Given the description of an element on the screen output the (x, y) to click on. 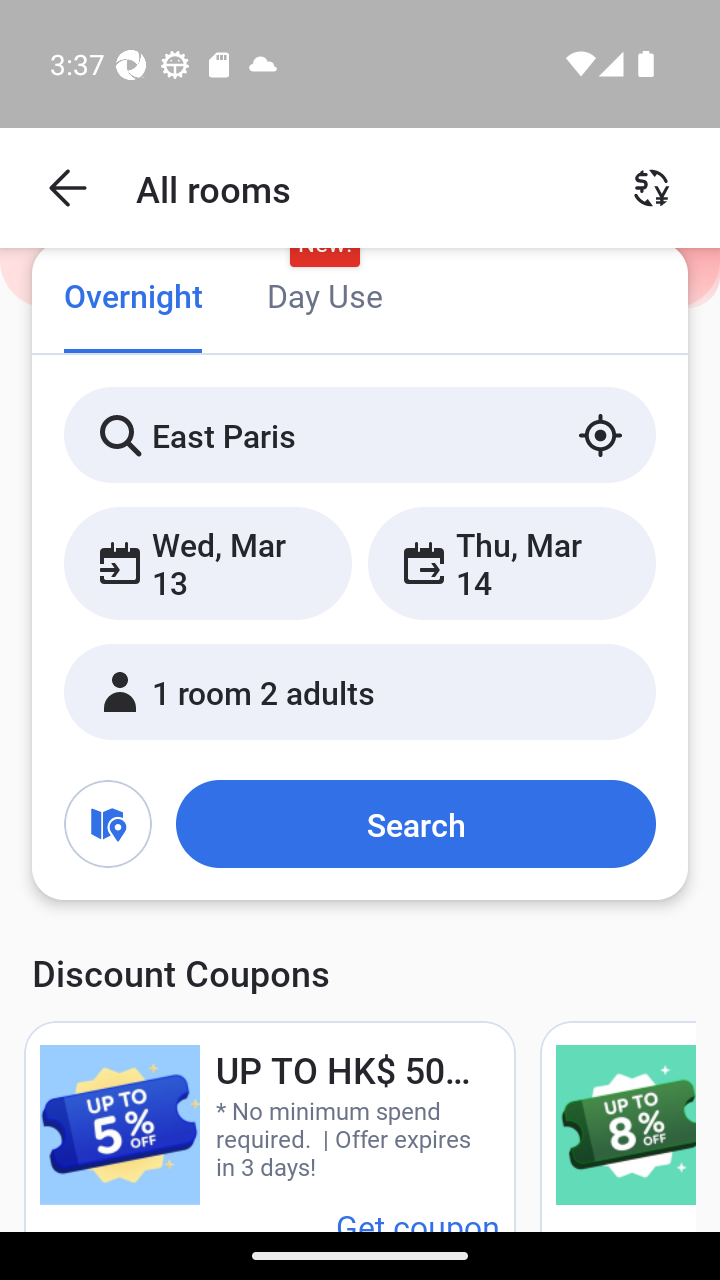
Day Use (324, 298)
East Paris (359, 434)
Wed, Mar 13 (208, 562)
Thu, Mar 14 (511, 562)
1 room 2 adults (359, 691)
Search (415, 823)
